Given the description of an element on the screen output the (x, y) to click on. 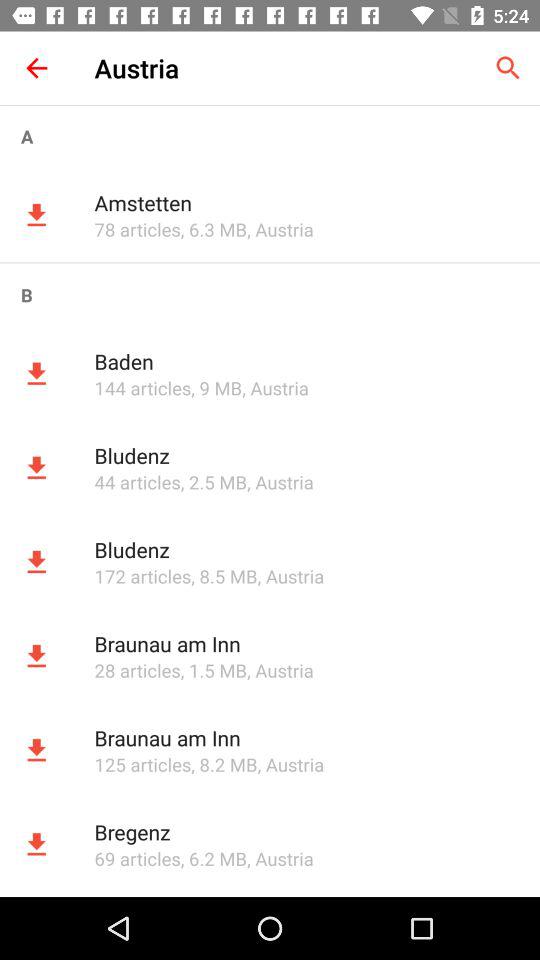
press item to the left of , 6.2 mb app (137, 858)
